Given the description of an element on the screen output the (x, y) to click on. 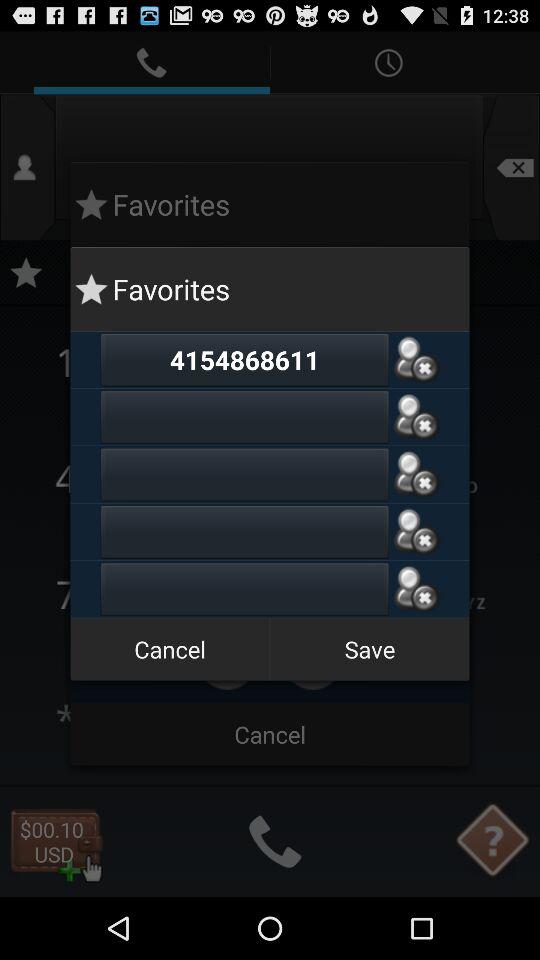
add number to favorites (244, 474)
